Given the description of an element on the screen output the (x, y) to click on. 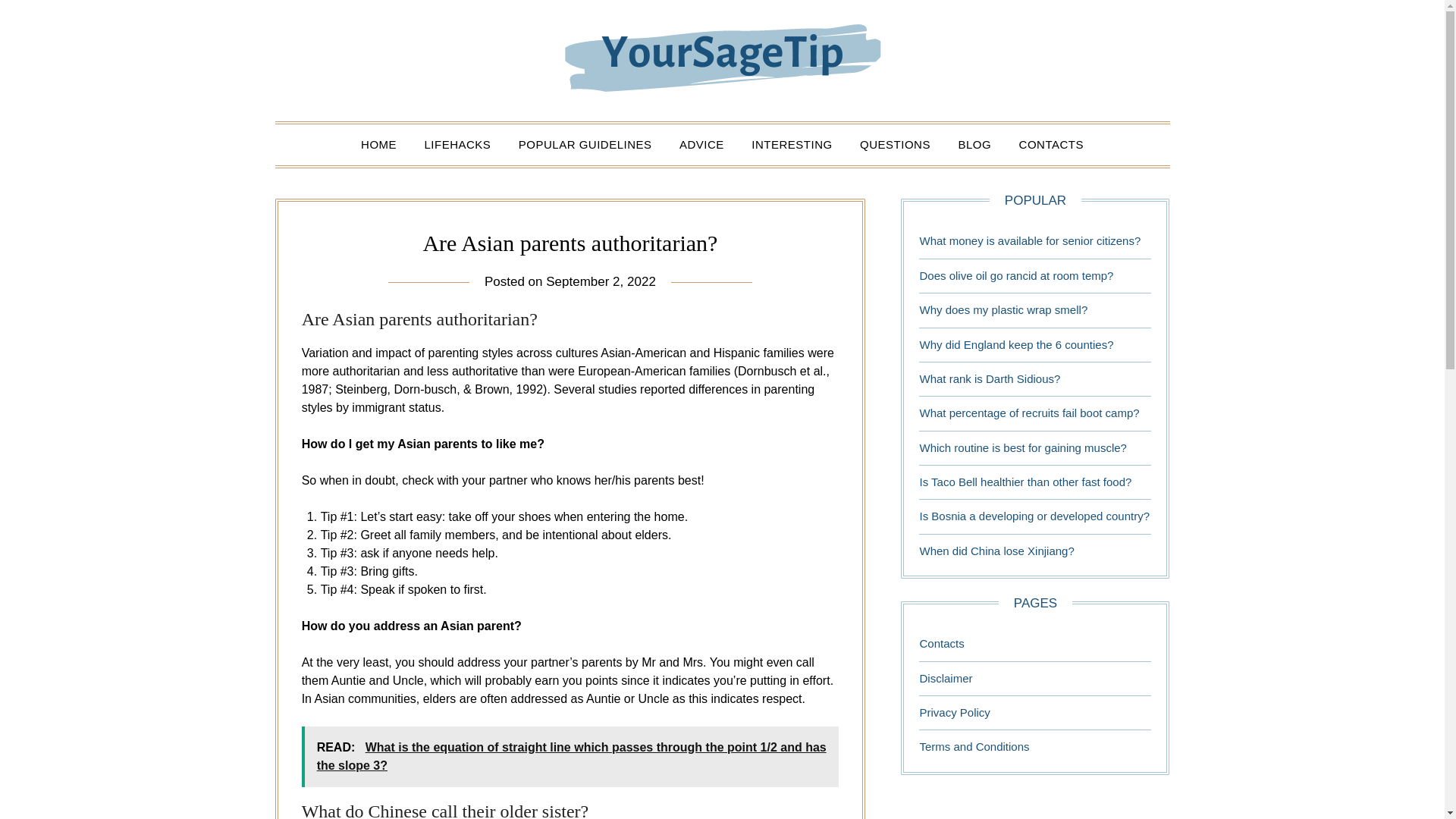
QUESTIONS (894, 144)
Does olive oil go rancid at room temp? (1015, 275)
INTERESTING (791, 144)
Why did England keep the 6 counties? (1015, 344)
LIFEHACKS (457, 144)
BLOG (973, 144)
Which routine is best for gaining muscle? (1021, 447)
What money is available for senior citizens? (1029, 240)
ADVICE (701, 144)
HOME (379, 144)
